Given the description of an element on the screen output the (x, y) to click on. 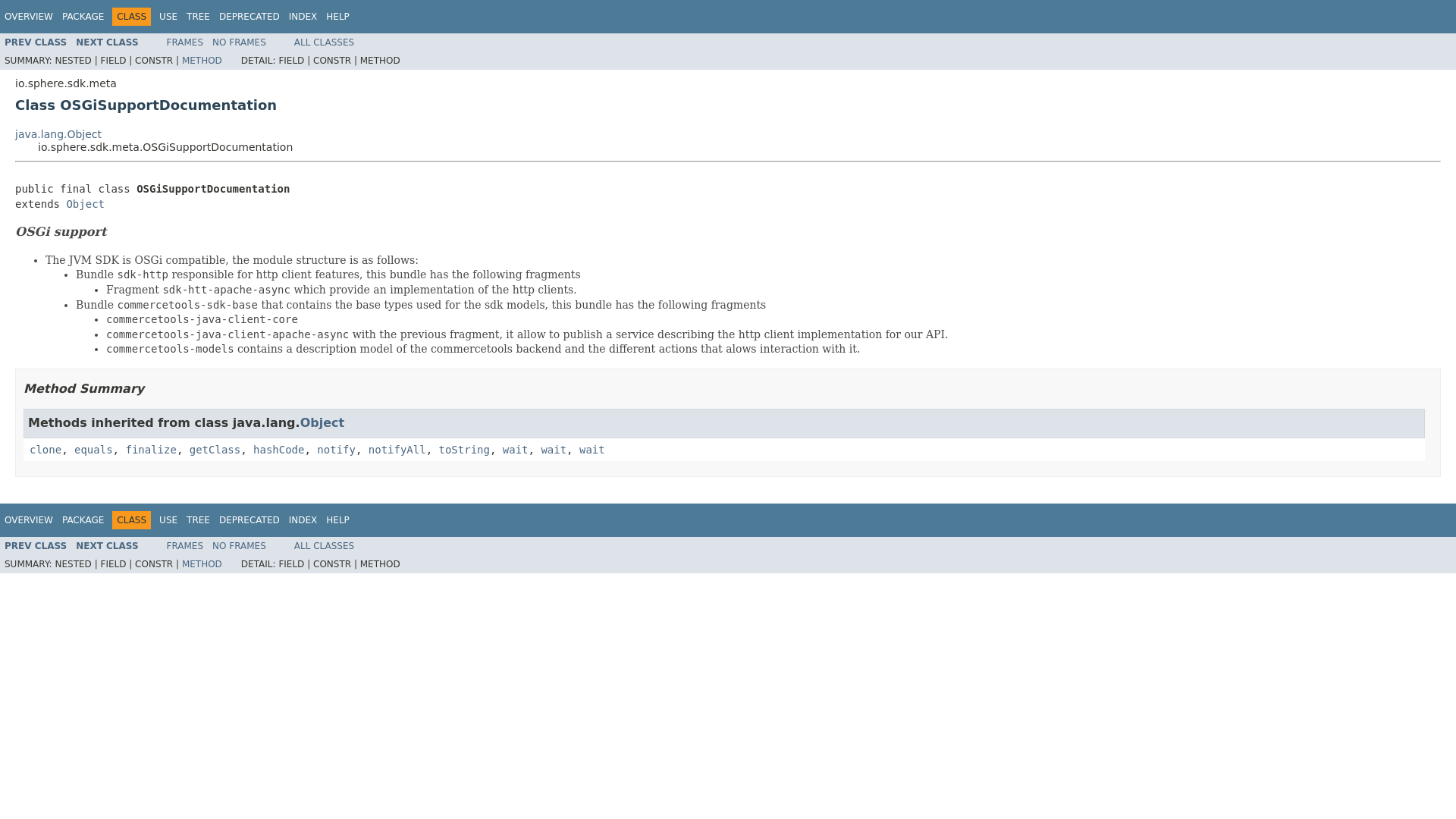
METHOD (202, 60)
notifyAll (397, 449)
class or interface in java.lang (214, 449)
INDEX (302, 16)
class or interface in java.lang (322, 422)
NEXT CLASS (106, 41)
PREV CLASS (35, 41)
TREE (197, 16)
class or interface in java.lang (278, 449)
class or interface in java.lang (45, 449)
toString (463, 449)
Navigation (176, 16)
class or interface in java.lang (150, 449)
USE (167, 520)
class or interface in java.lang (515, 449)
